Given the description of an element on the screen output the (x, y) to click on. 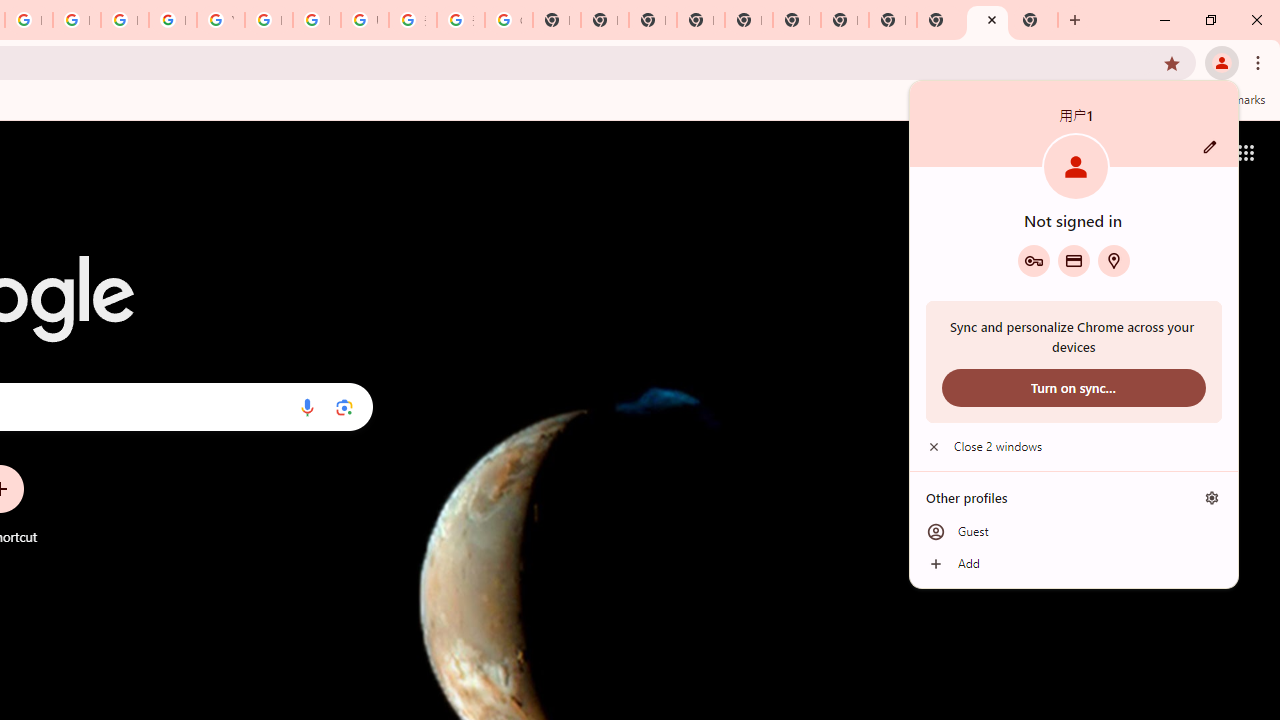
Addresses and more (1114, 260)
Privacy Help Center - Policies Help (76, 20)
YouTube (220, 20)
Restore (1210, 20)
Close (991, 19)
Bookmark this tab (1171, 62)
Customize profile (1210, 147)
New Tab (1075, 20)
Payment methods (1074, 260)
Google Password Manager (1033, 260)
Browse Chrome as a guest - Computer - Google Chrome Help (268, 20)
